Given the description of an element on the screen output the (x, y) to click on. 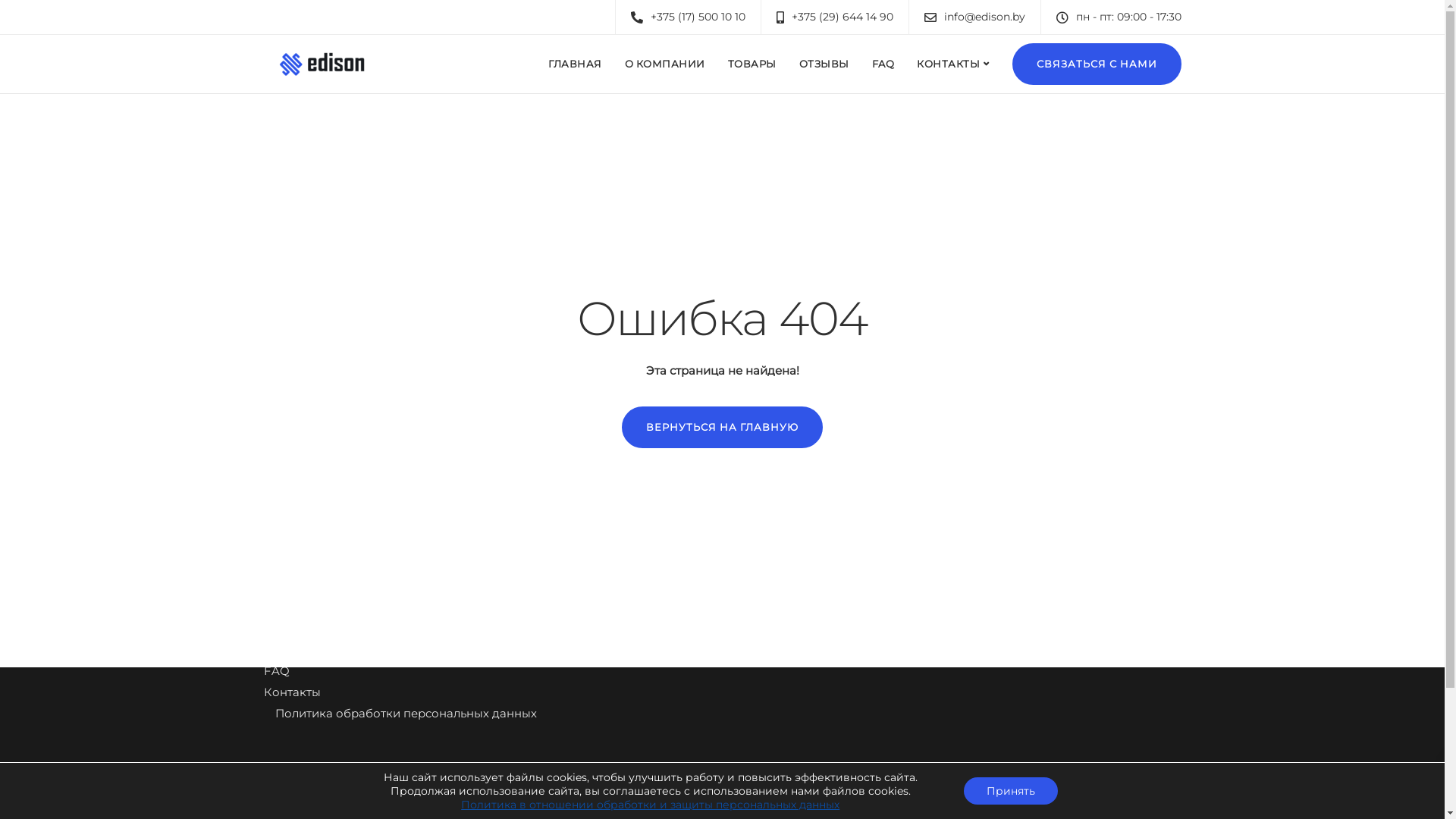
info@edison.by Element type: text (987, 16)
+375 (29) 644 14 90 Element type: text (845, 16)
+375 (17) 500 10 10 Element type: text (701, 16)
FAQ Element type: text (882, 63)
FAQ Element type: text (276, 672)
